Given the description of an element on the screen output the (x, y) to click on. 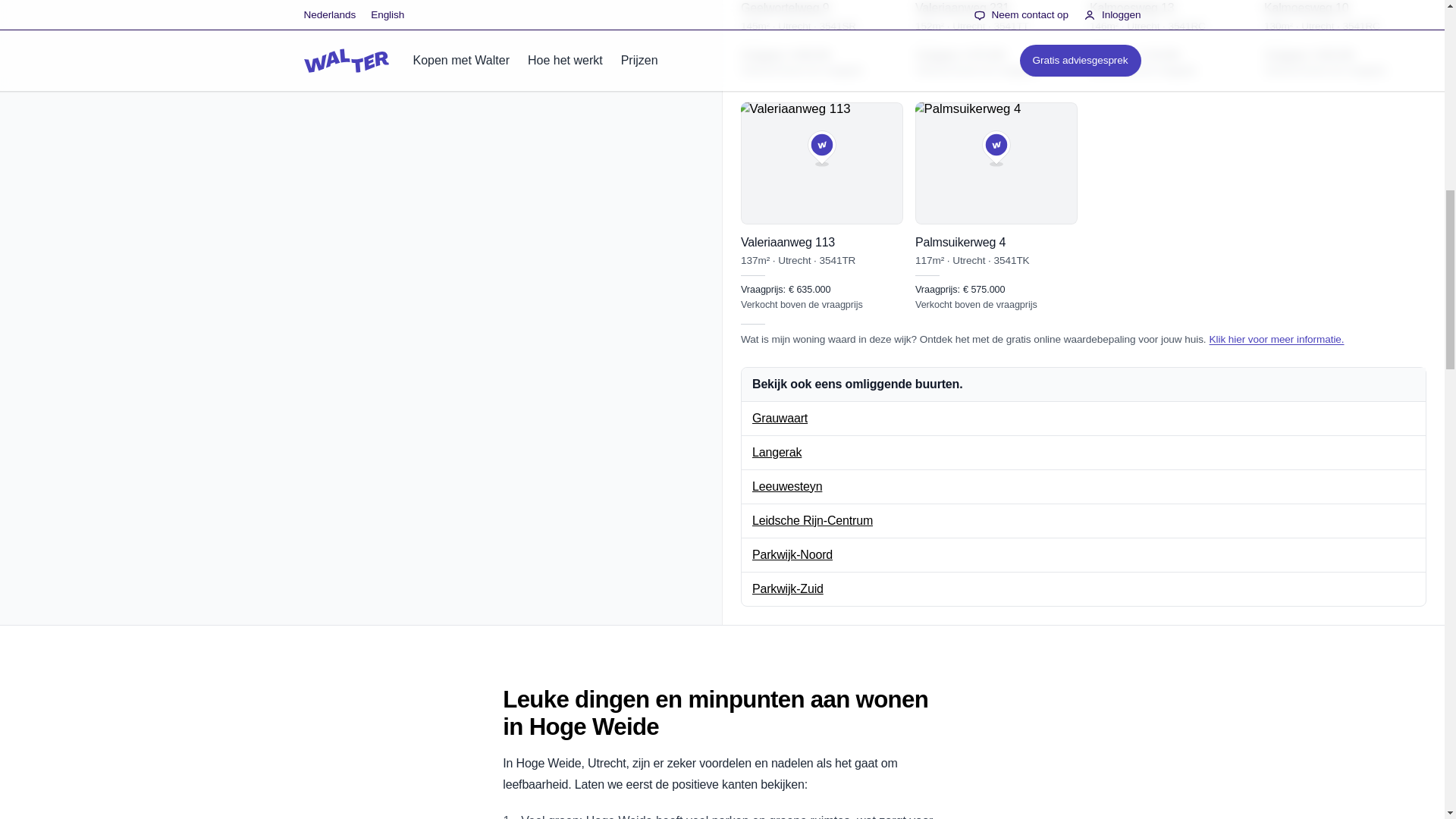
Kalmoesweg 10, Utrecht (1344, 38)
Valeriaanweg 231, Utrecht (996, 38)
Geelwortelweg 9, Utrecht (821, 38)
Kalmoesweg 13, Utrecht (1170, 38)
